Given the description of an element on the screen output the (x, y) to click on. 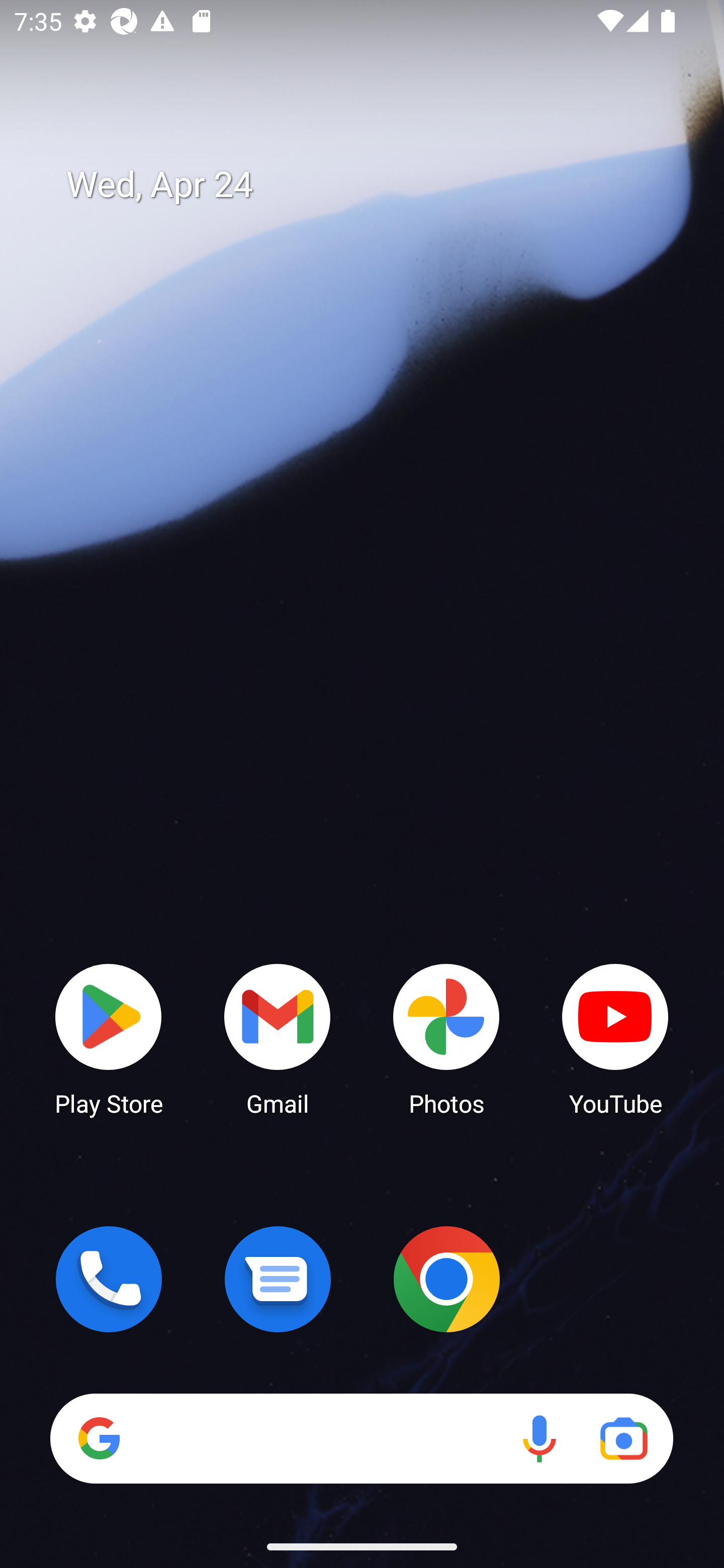
Wed, Apr 24 (375, 184)
Play Store (108, 1038)
Gmail (277, 1038)
Photos (445, 1038)
YouTube (615, 1038)
Phone (108, 1279)
Messages (277, 1279)
Chrome (446, 1279)
Search Voice search Google Lens (361, 1438)
Voice search (539, 1438)
Google Lens (623, 1438)
